Given the description of an element on the screen output the (x, y) to click on. 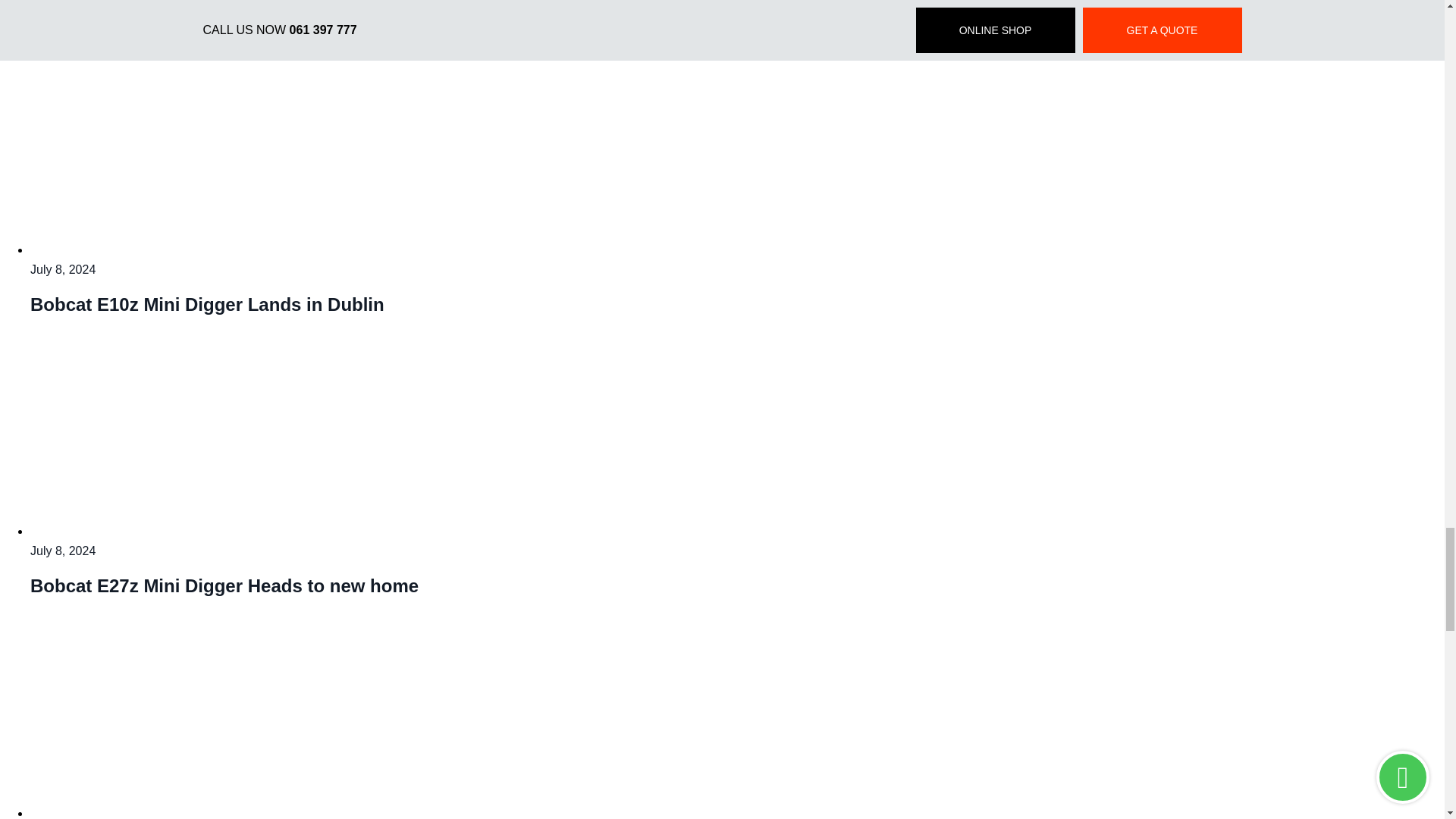
Bobcat E10z Mini Digger Lands in Dublin (219, 249)
